Given the description of an element on the screen output the (x, y) to click on. 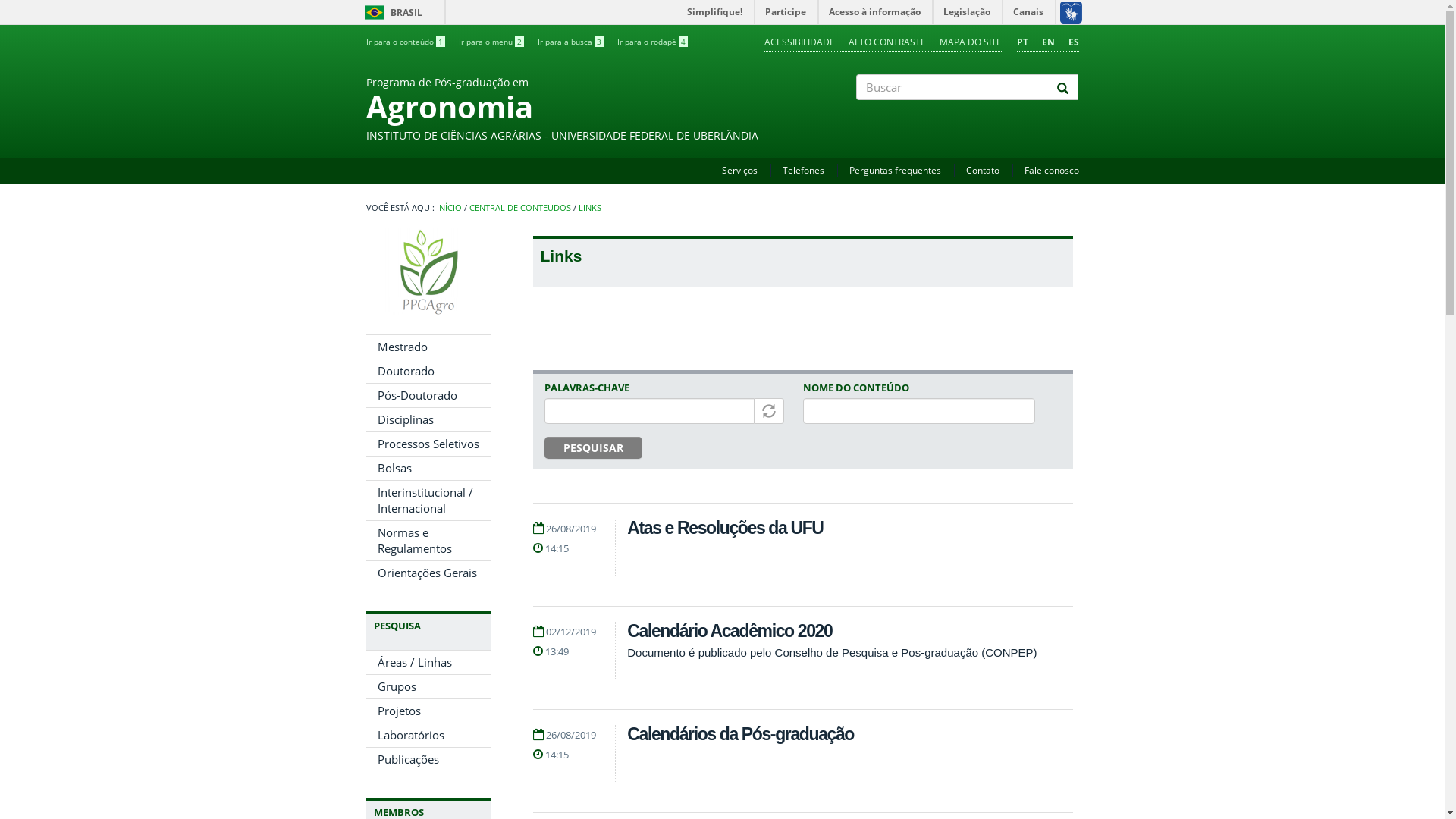
MAPA DO SITE Element type: text (969, 41)
Disciplinas Element type: text (427, 419)
PPGAGRO Element type: hover (428, 271)
ACESSIBILIDADE Element type: text (799, 41)
ES Element type: text (1072, 41)
Projetos Element type: text (427, 710)
EN Element type: text (1047, 41)
Ir para o menu 2 Element type: text (490, 41)
Perguntas frequentes Element type: text (895, 169)
Contato Element type: text (982, 169)
Mestrado Element type: text (427, 346)
Normas e Regulamentos Element type: text (427, 540)
Bolsas Element type: text (427, 468)
Fale conosco Element type: text (1050, 169)
Buscar Element type: text (856, 112)
BRASIL Element type: text (373, 12)
LINKS Element type: text (588, 207)
PT Element type: text (1021, 41)
PESQUISAR Element type: text (593, 447)
Interinstitucional / Internacional Element type: text (427, 500)
CENTRAL DE CONTEUDOS Element type: text (519, 207)
Doutorado Element type: text (427, 370)
Processos Seletivos Element type: text (427, 443)
Telefones Element type: text (803, 169)
Ir para a busca 3 Element type: text (569, 41)
ALTO CONTRASTE Element type: text (886, 41)
Grupos Element type: text (427, 686)
